Given the description of an element on the screen output the (x, y) to click on. 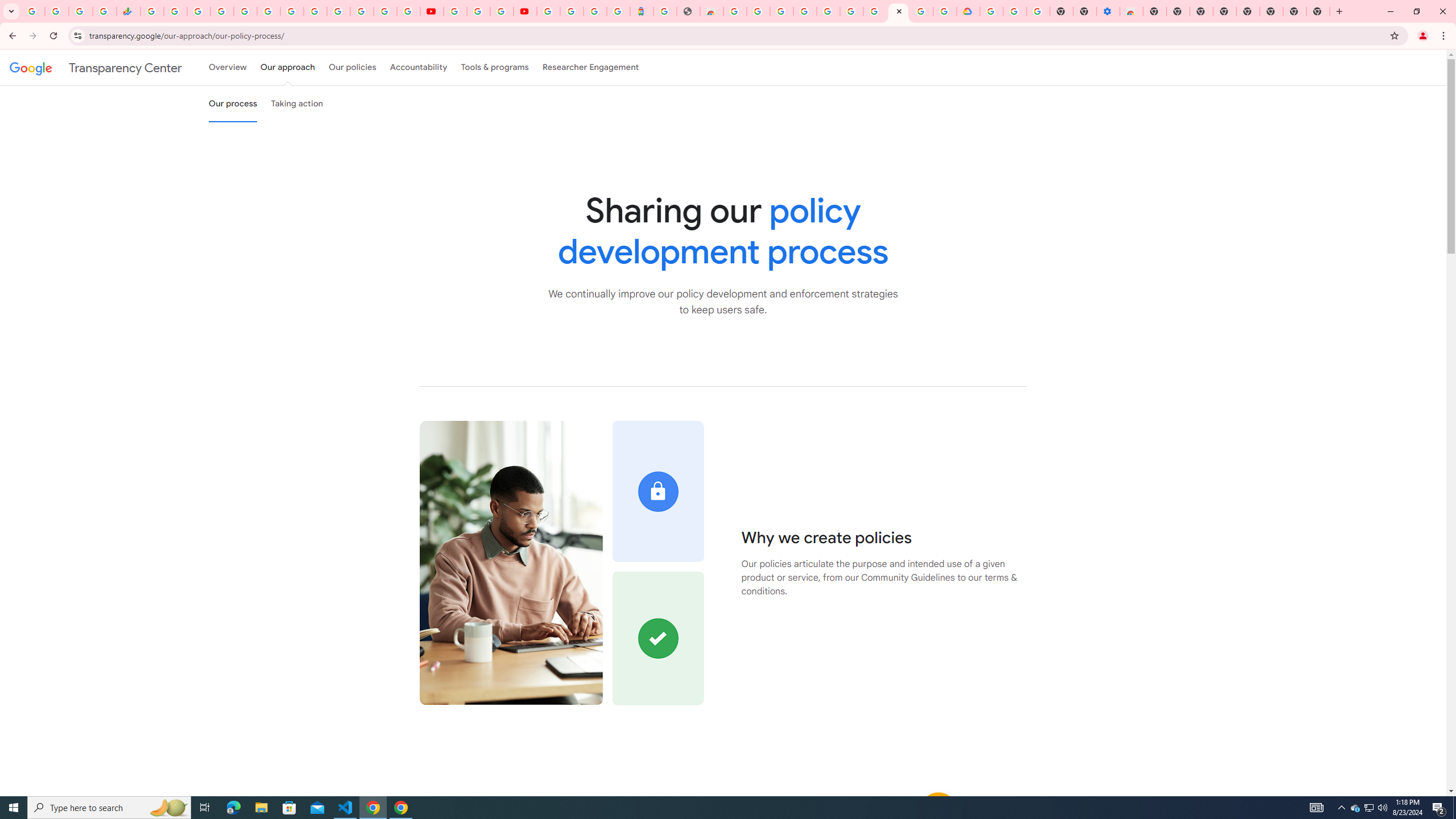
Sign in - Google Accounts (827, 11)
Android TV Policies and Guidelines - Transparency Center (291, 11)
YouTube (431, 11)
Google Account Help (1015, 11)
Settings - Accessibility (1108, 11)
Taking action (296, 103)
